Given the description of an element on the screen output the (x, y) to click on. 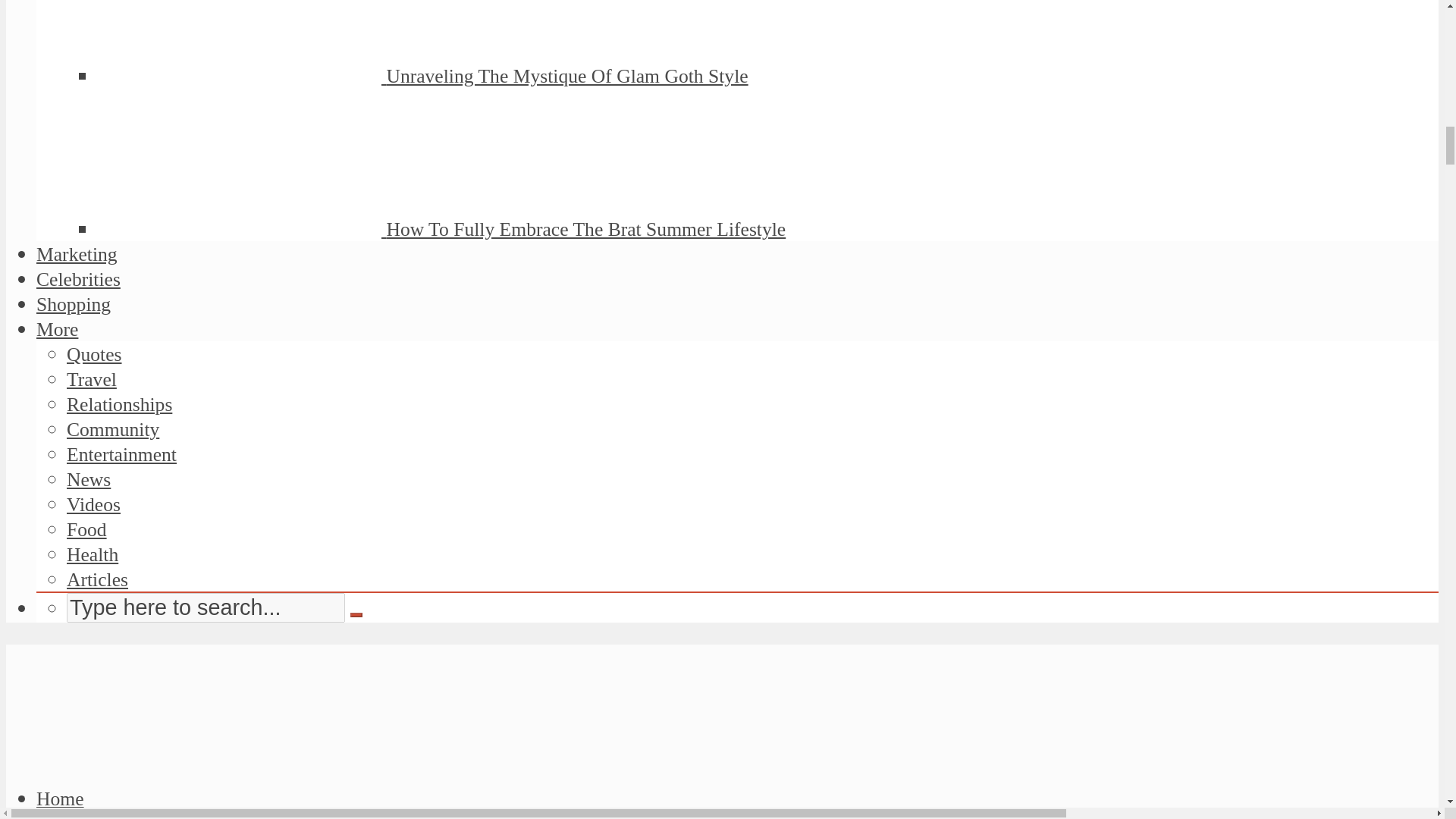
Type here to search... (205, 607)
Type here to search... (205, 607)
Unraveling The Mystique Of Glam Goth Style (566, 75)
